Given the description of an element on the screen output the (x, y) to click on. 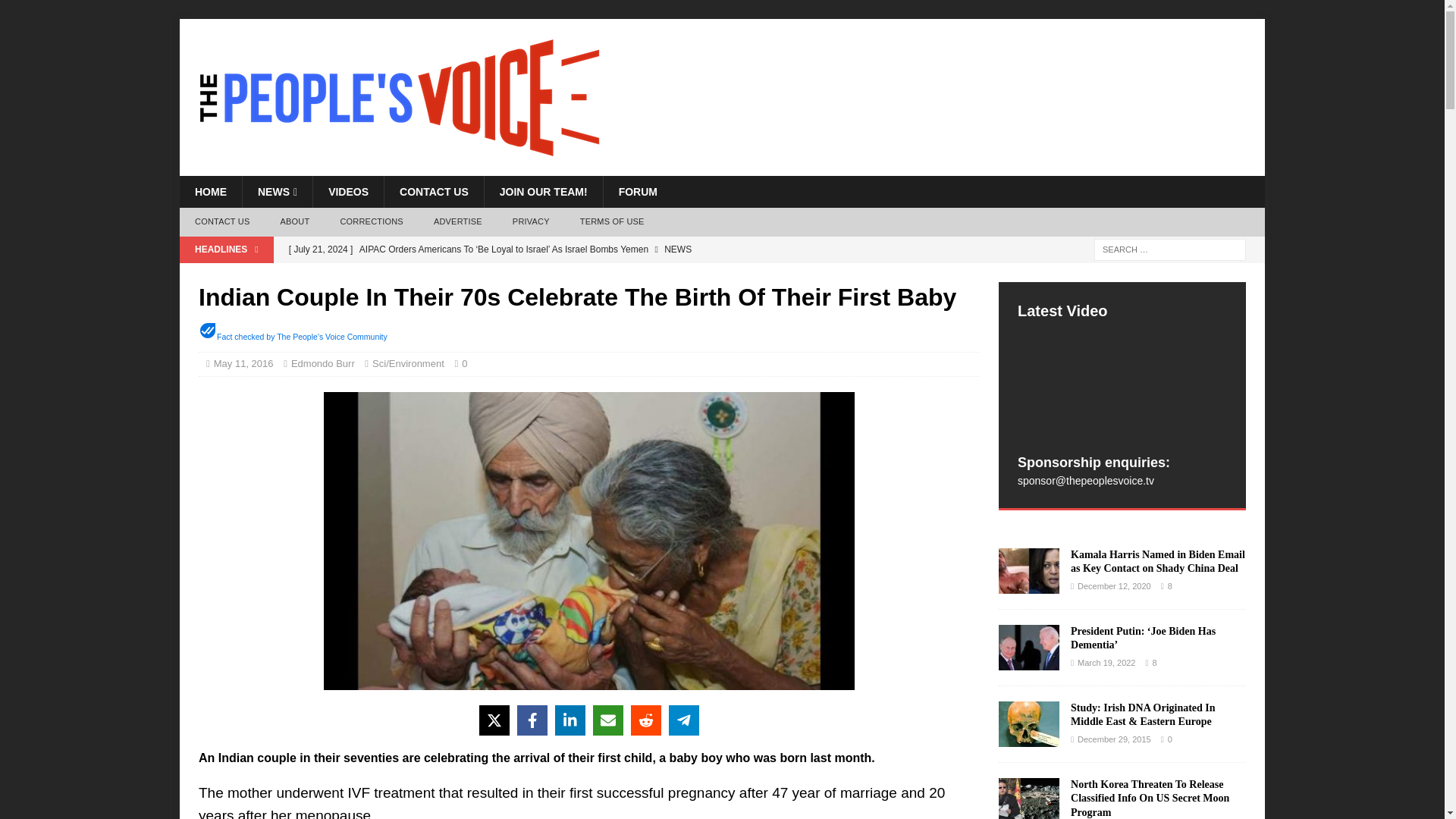
CORRECTIONS (370, 222)
ABOUT (294, 222)
TERMS OF USE (611, 222)
PRIVACY (530, 222)
HOME (210, 192)
CONTACT US (433, 192)
ADVERTISE (458, 222)
VIDEOS (348, 192)
NEWS (277, 192)
FORUM (637, 192)
CONTACT US (221, 222)
JOIN OUR TEAM! (542, 192)
